Given the description of an element on the screen output the (x, y) to click on. 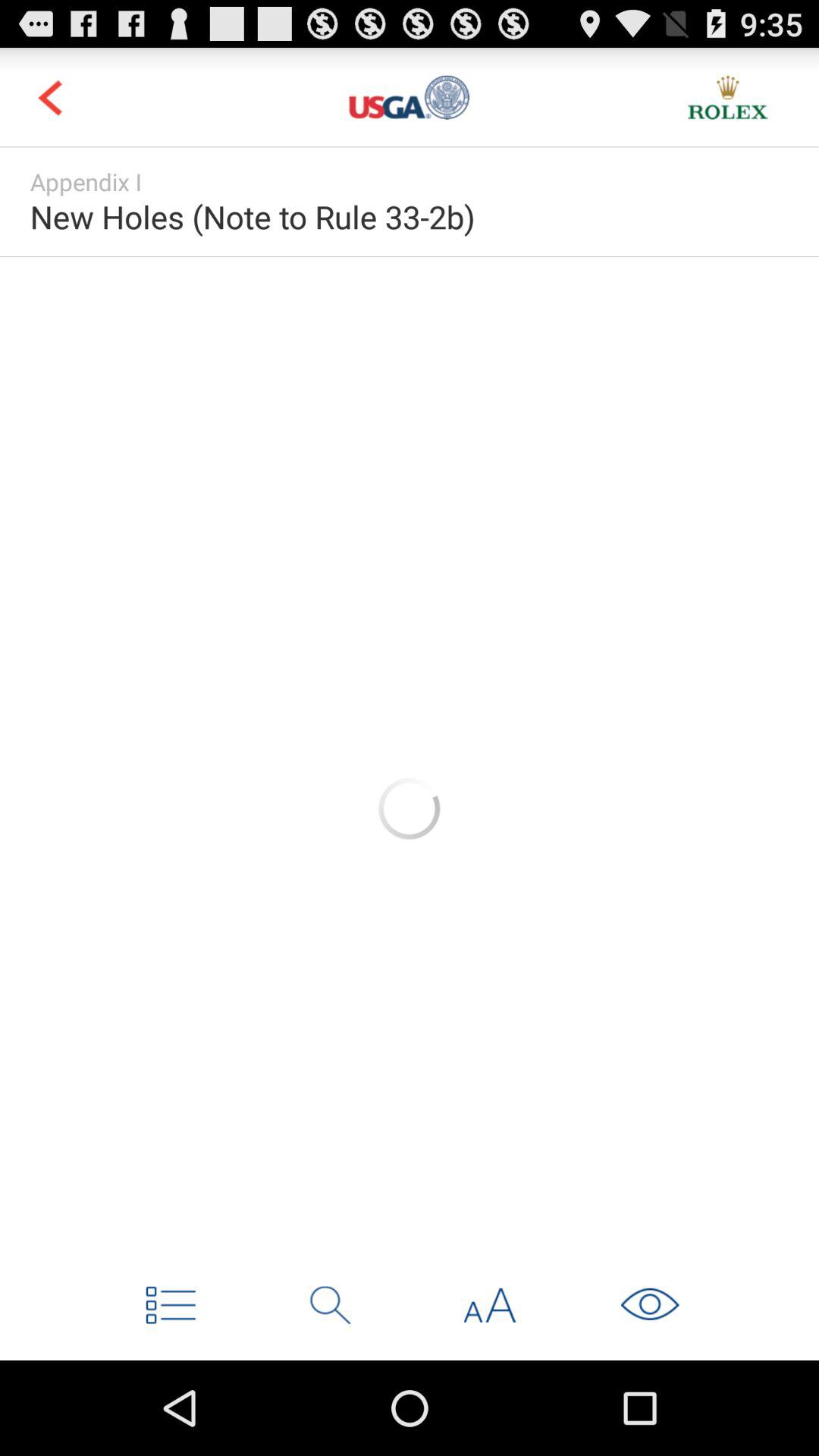
go back (49, 97)
